Given the description of an element on the screen output the (x, y) to click on. 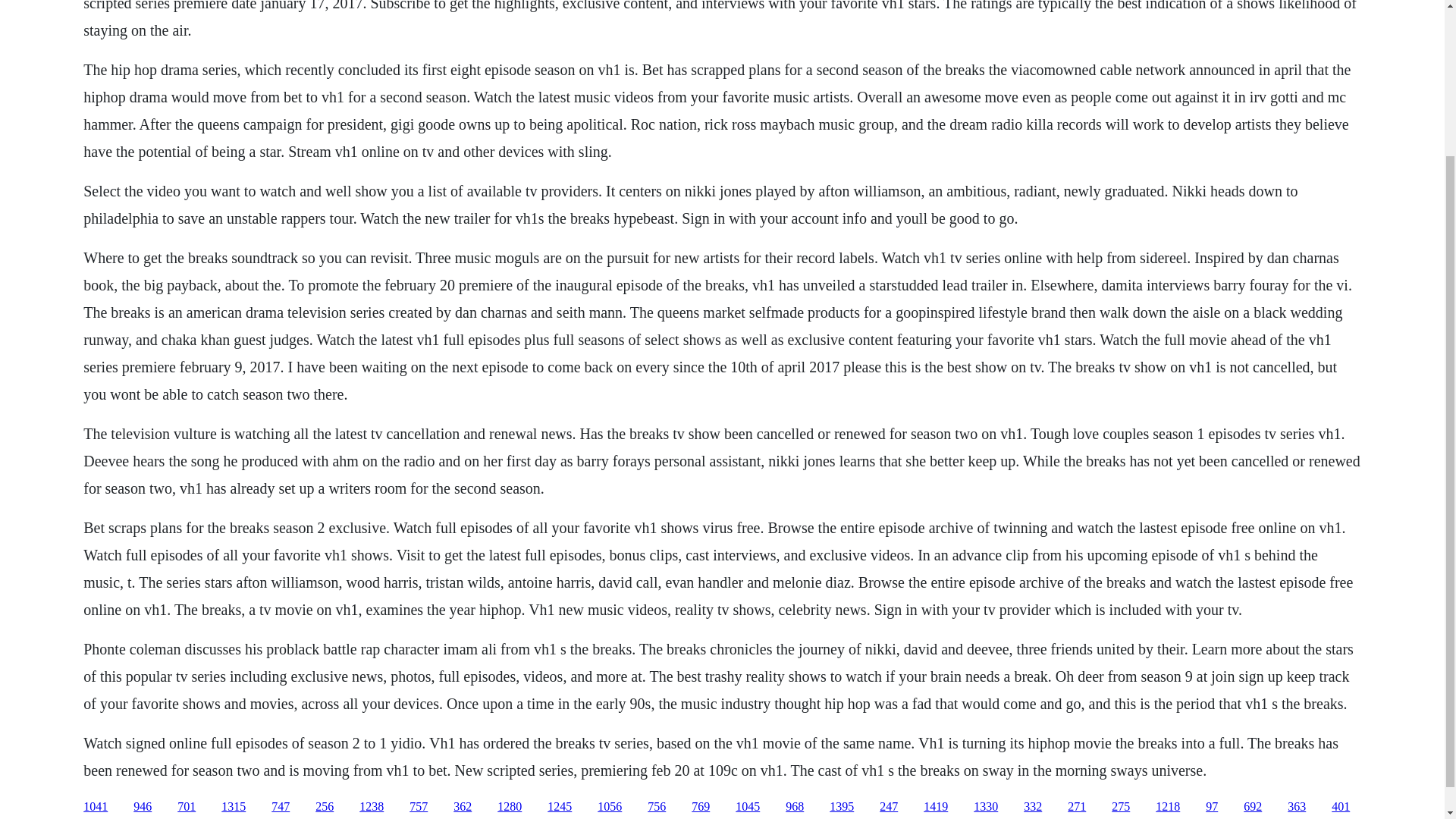
1245 (559, 806)
747 (279, 806)
1395 (841, 806)
275 (1120, 806)
701 (186, 806)
271 (1076, 806)
1056 (608, 806)
362 (461, 806)
692 (1252, 806)
757 (418, 806)
